Given the description of an element on the screen output the (x, y) to click on. 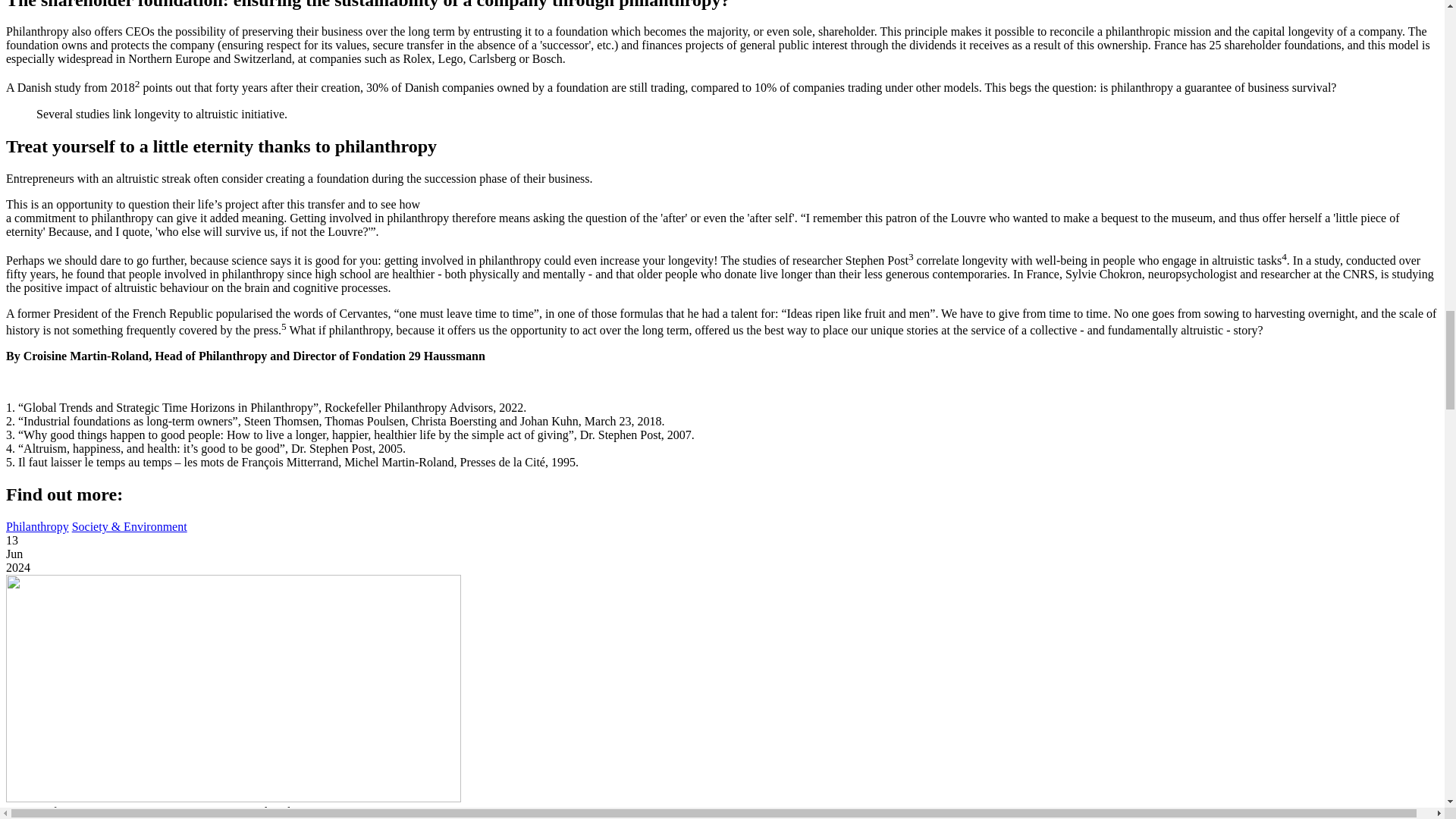
Philanthropy (36, 526)
